Given the description of an element on the screen output the (x, y) to click on. 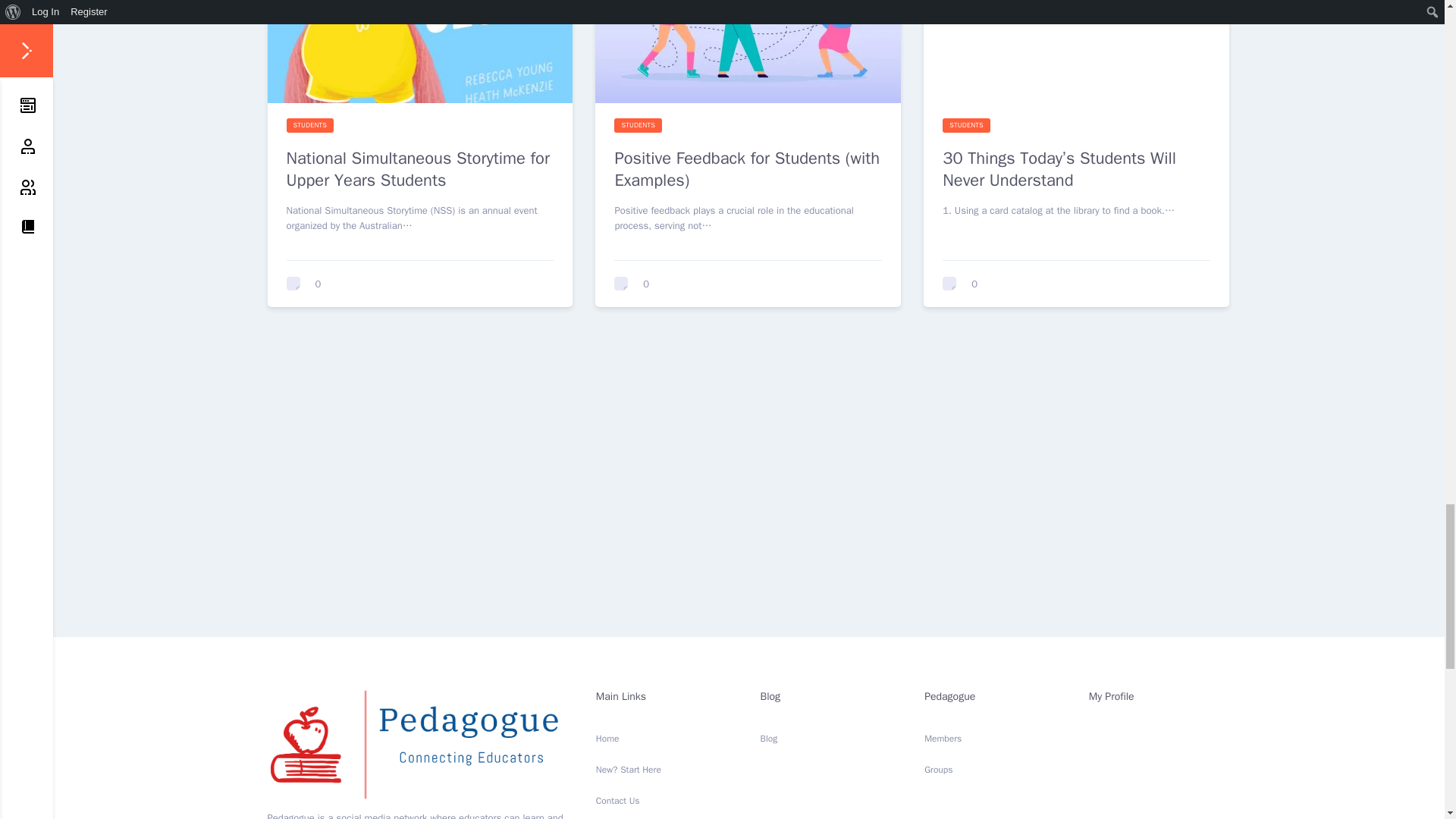
All posts from Students (310, 125)
All posts from Students (966, 125)
All posts from Students (638, 125)
